Given the description of an element on the screen output the (x, y) to click on. 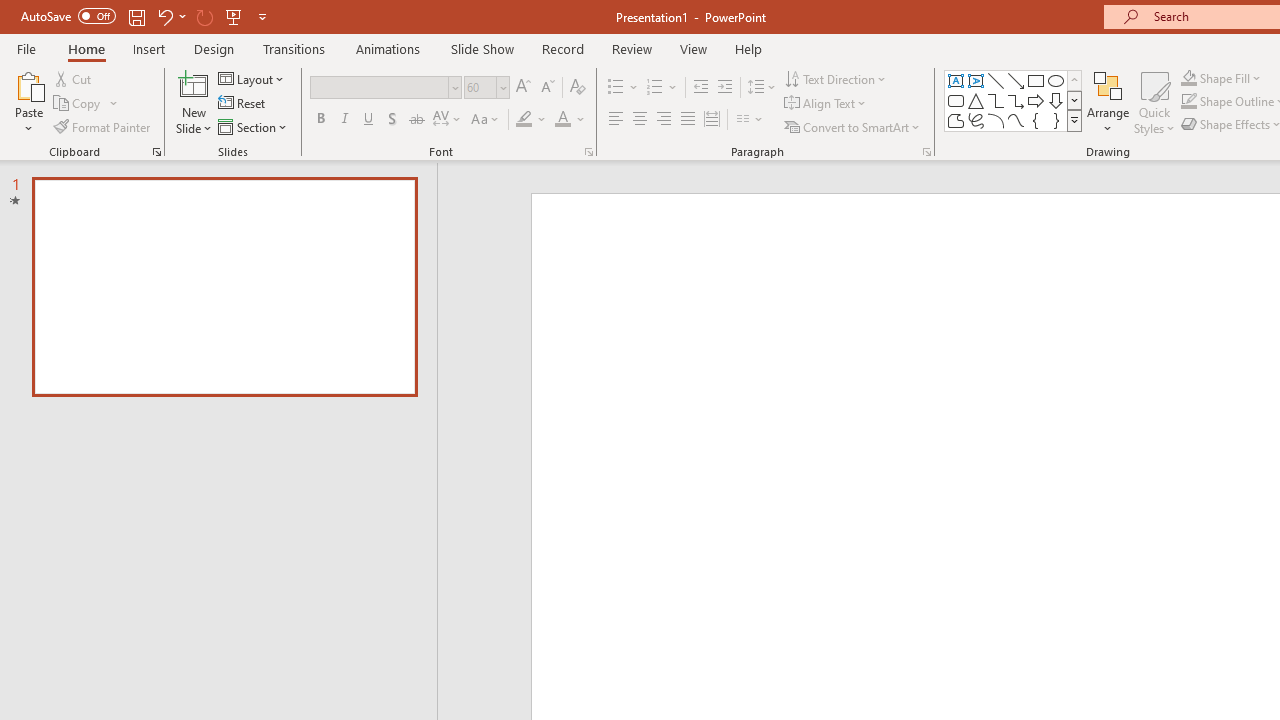
Rectangle (1035, 80)
Font... (588, 151)
Row up (1074, 79)
Office Clipboard... (156, 151)
Align Text (826, 103)
Cut (73, 78)
Arrow: Right (1035, 100)
Rectangle: Rounded Corners (955, 100)
Slide (224, 286)
Character Spacing (447, 119)
Italic (344, 119)
Isosceles Triangle (975, 100)
